Given the description of an element on the screen output the (x, y) to click on. 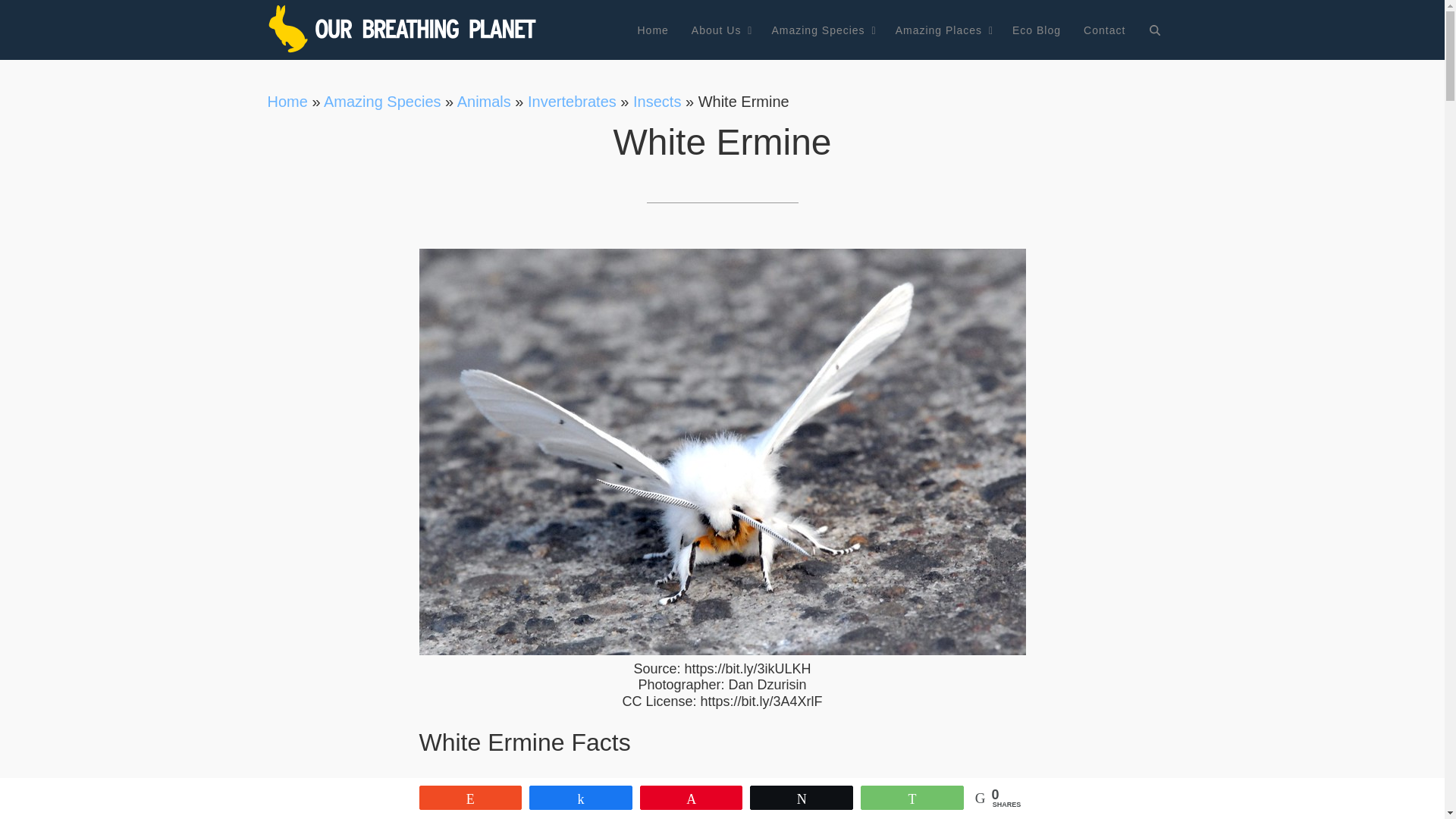
Contact (1104, 29)
Amazing Species (382, 101)
About Us (719, 29)
Home (652, 29)
Amazing Places (942, 29)
Home (286, 101)
Amazing Species (821, 29)
Eco Blog (1036, 29)
OUR BREATHING PLANET (403, 28)
